Given the description of an element on the screen output the (x, y) to click on. 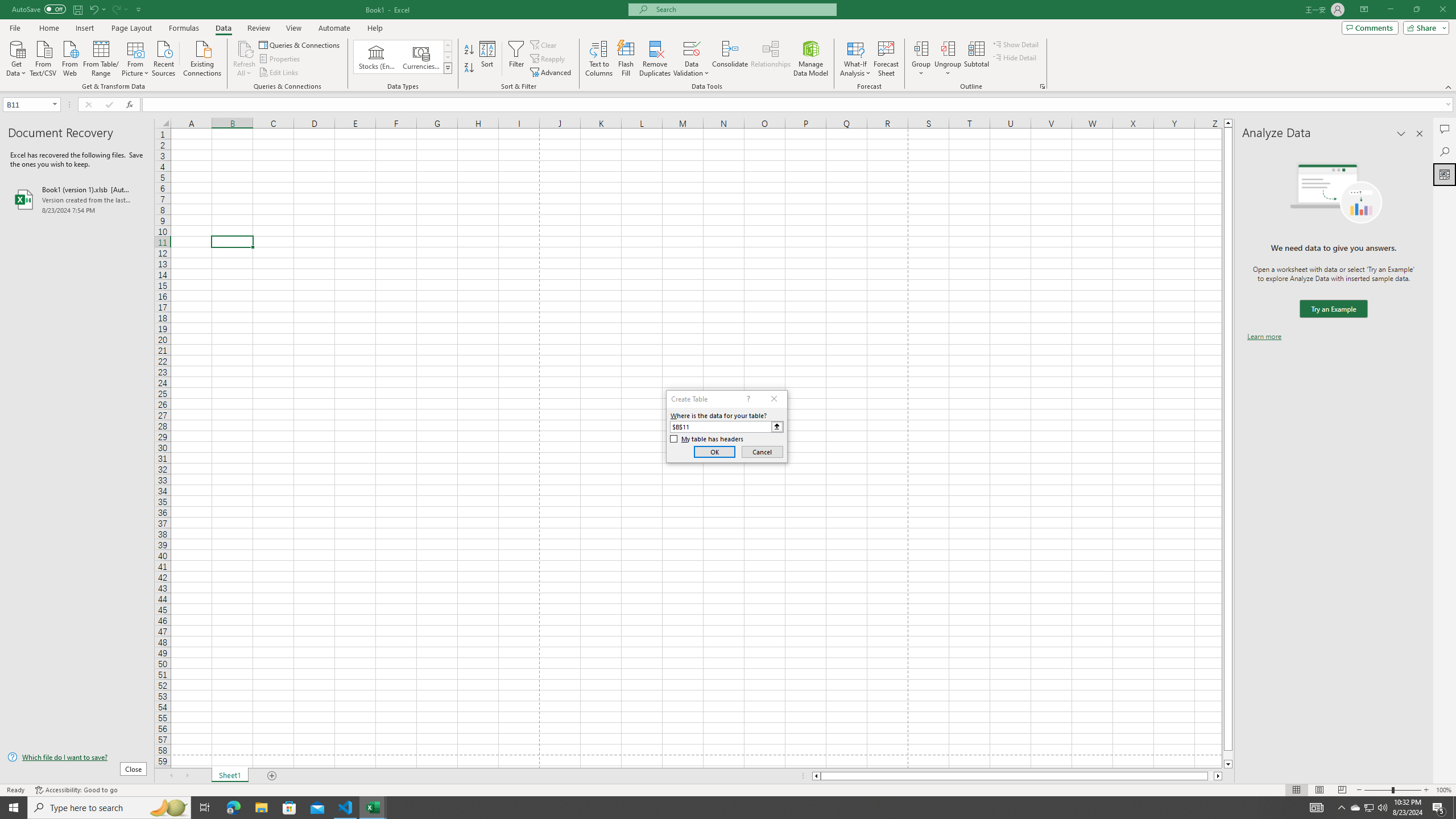
Existing Connections (202, 57)
Hide Detail (1014, 56)
Row up (448, 45)
Forecast Sheet (885, 58)
Manage Data Model (810, 58)
Refresh All (244, 48)
Text to Columns... (598, 58)
Edit Links (279, 72)
Task Pane Options (1400, 133)
